Given the description of an element on the screen output the (x, y) to click on. 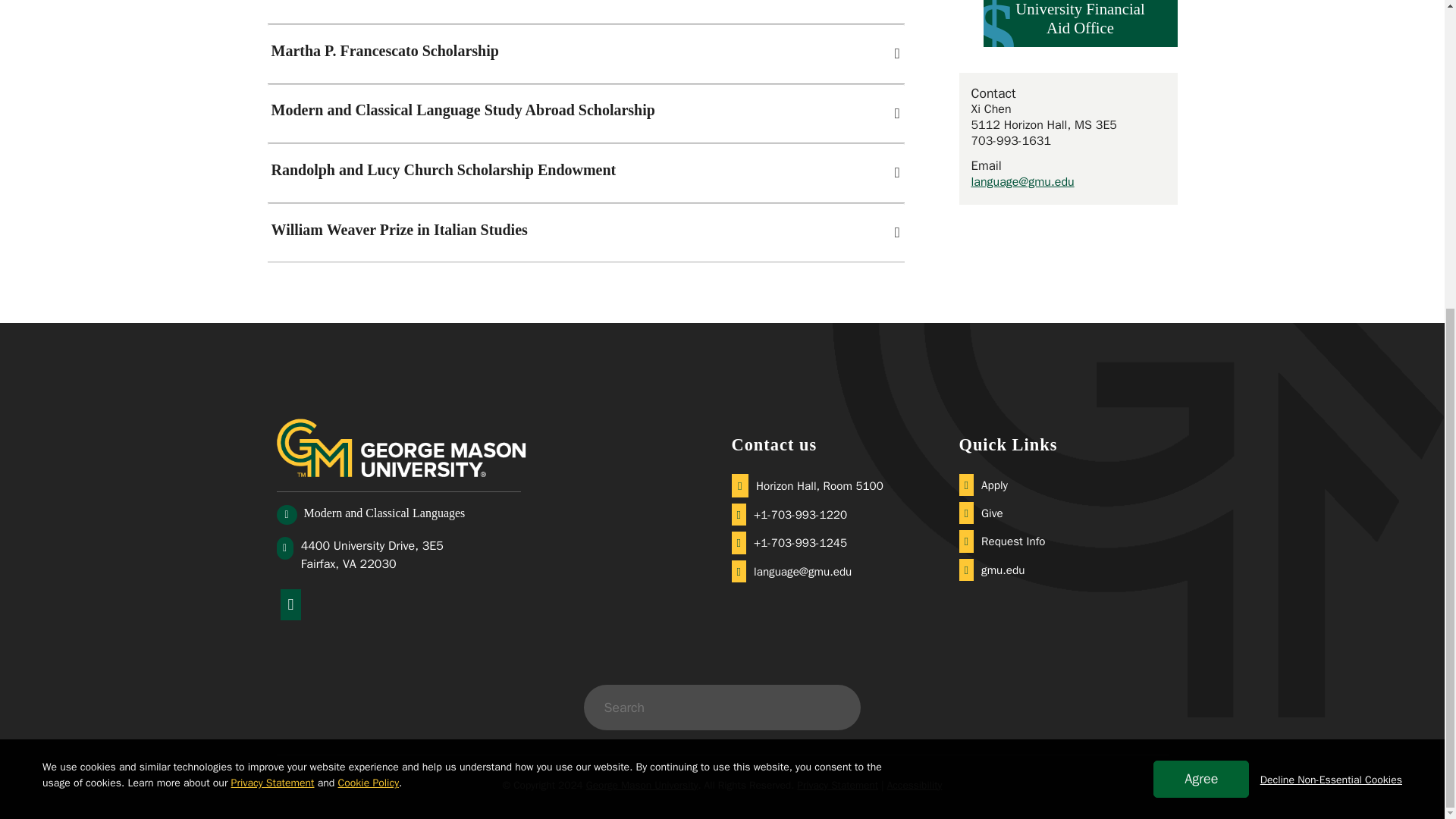
Decline Non-Essential Cookies (1331, 291)
George Mason University Cookie Policy (367, 294)
Agree (1201, 290)
Privacy Statement (272, 294)
Cookie Policy (367, 294)
George Mason University Privacy Statement (272, 294)
